Given the description of an element on the screen output the (x, y) to click on. 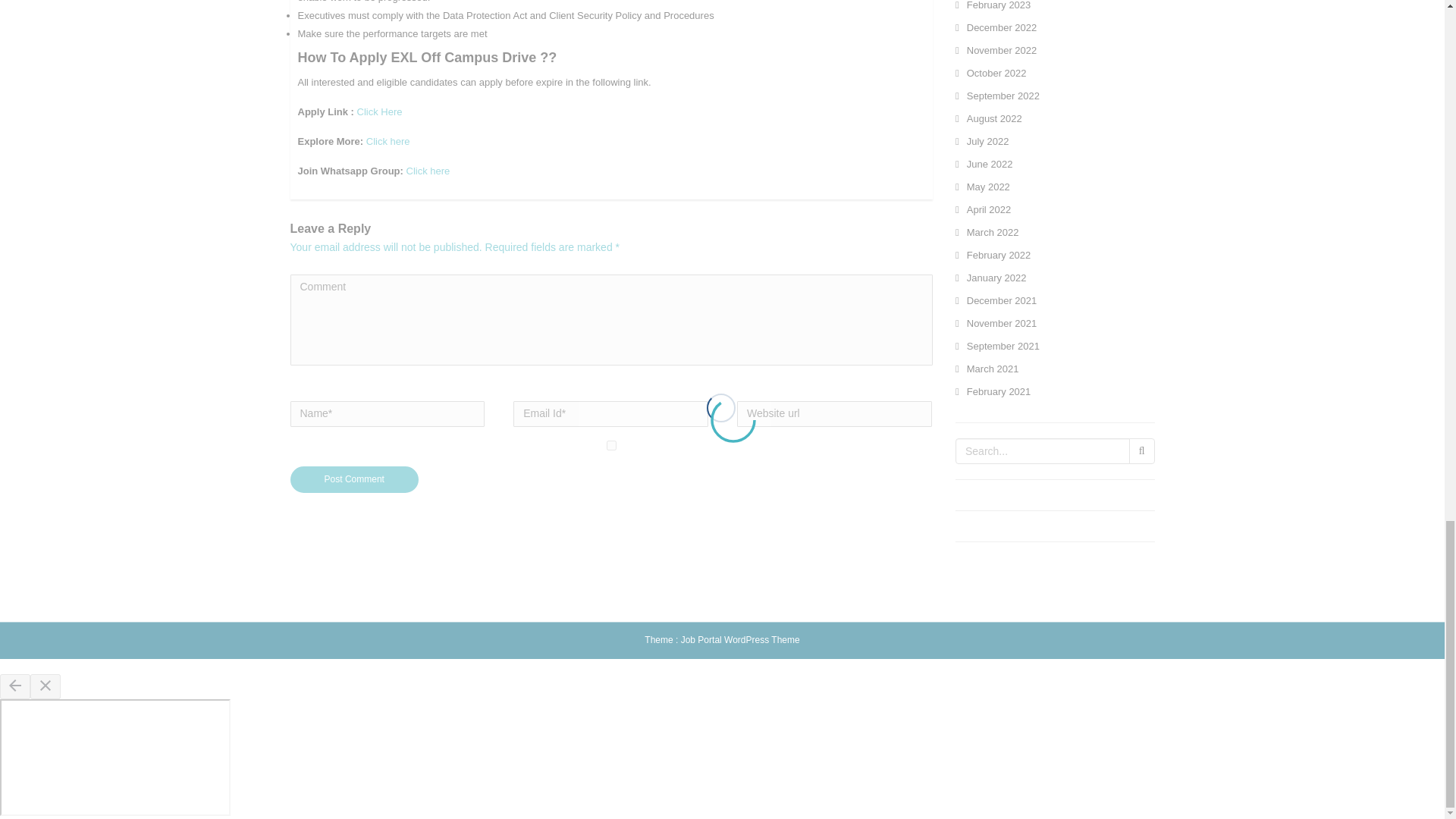
Click Here (379, 111)
Post Comment (354, 479)
Click here (427, 170)
Click here (388, 141)
Post Comment (354, 479)
yes (611, 445)
